Given the description of an element on the screen output the (x, y) to click on. 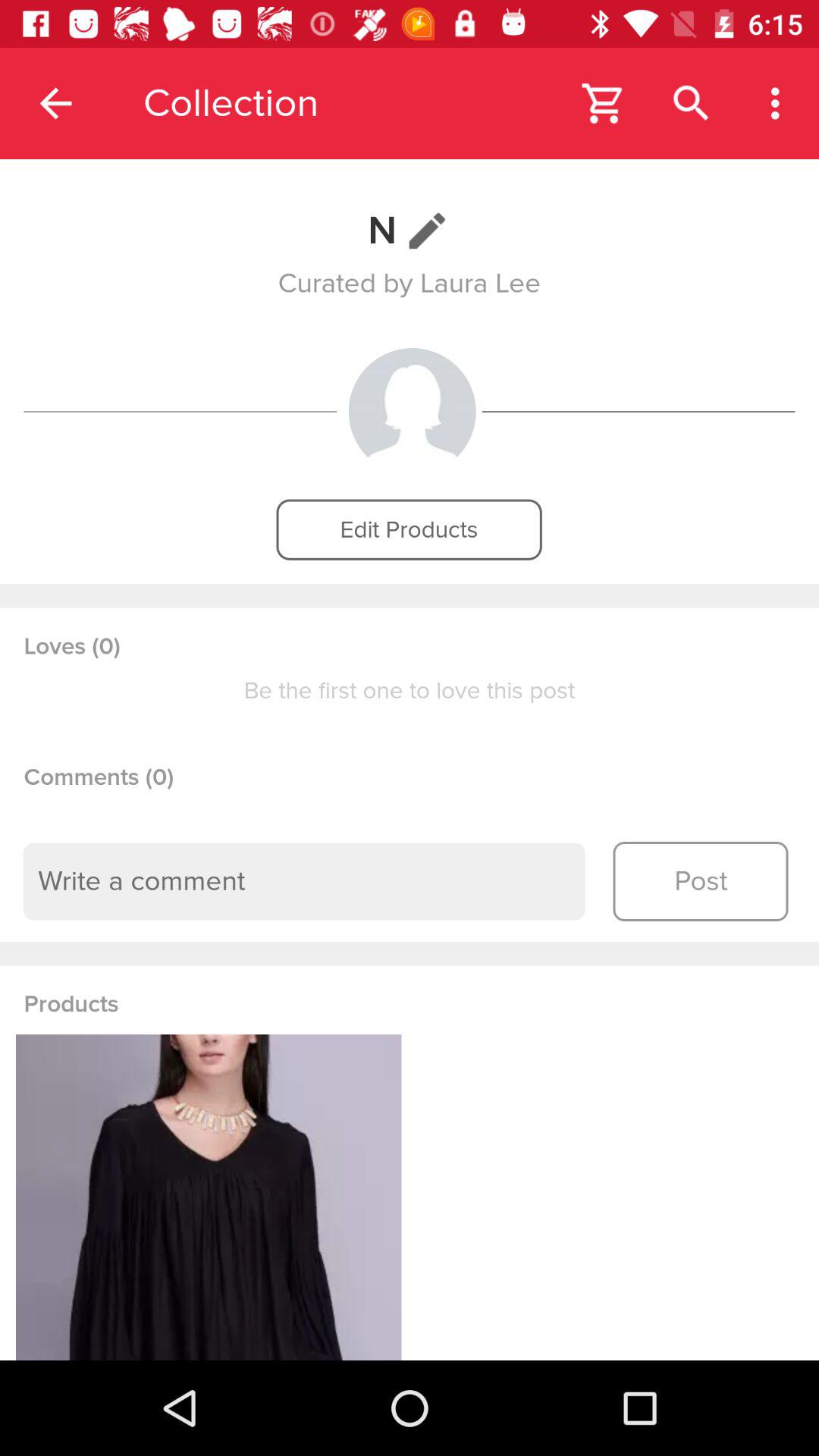
turn on the icon to the left of post icon (304, 881)
